Given the description of an element on the screen output the (x, y) to click on. 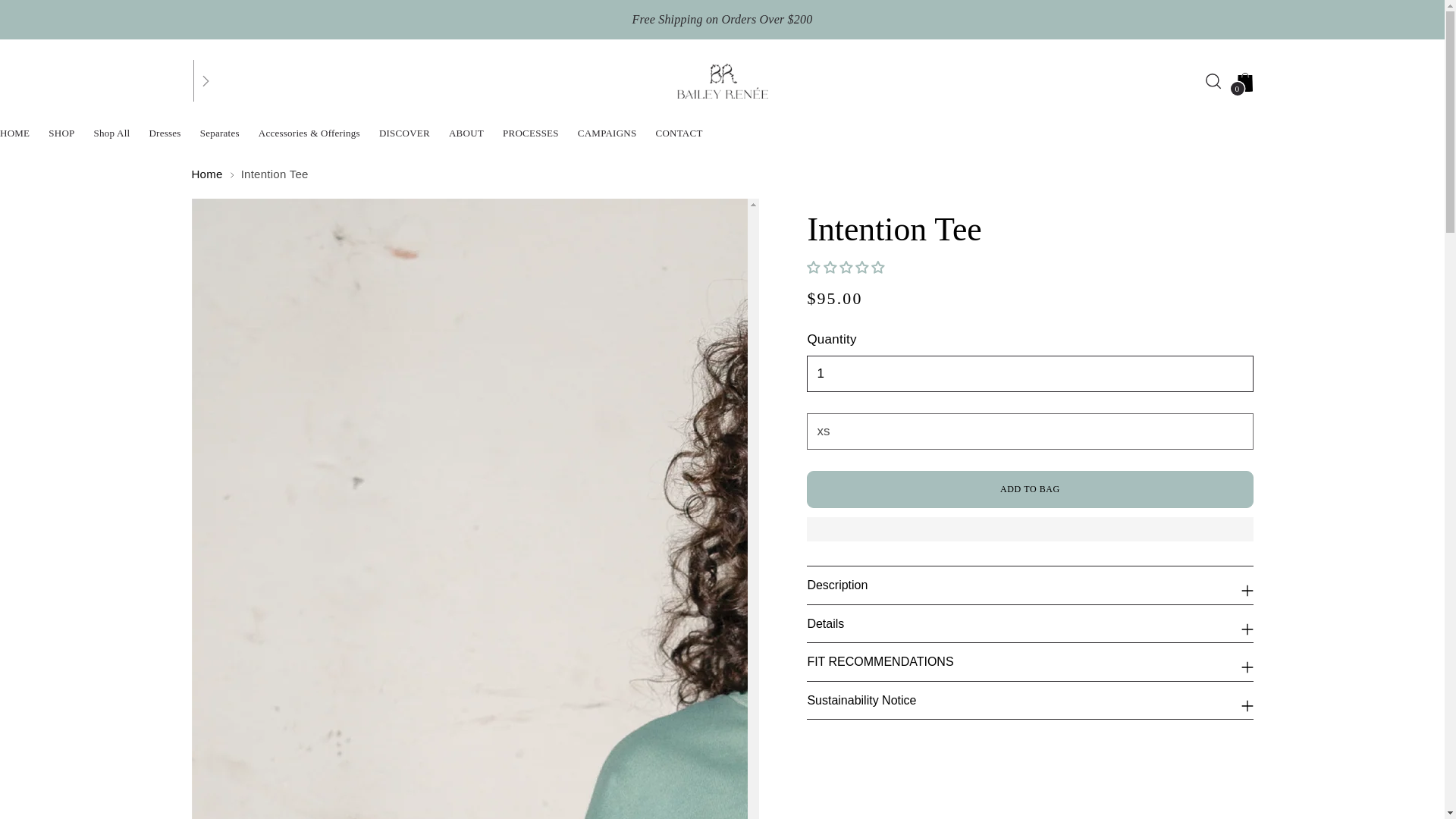
Separates (220, 132)
SHOP (61, 132)
Shop All (112, 132)
Dresses (164, 132)
0 (1245, 81)
CAMPAIGNS (607, 132)
CONTACT (678, 132)
PROCESSES (530, 132)
DISCOVER (403, 132)
ABOUT (465, 132)
